Given the description of an element on the screen output the (x, y) to click on. 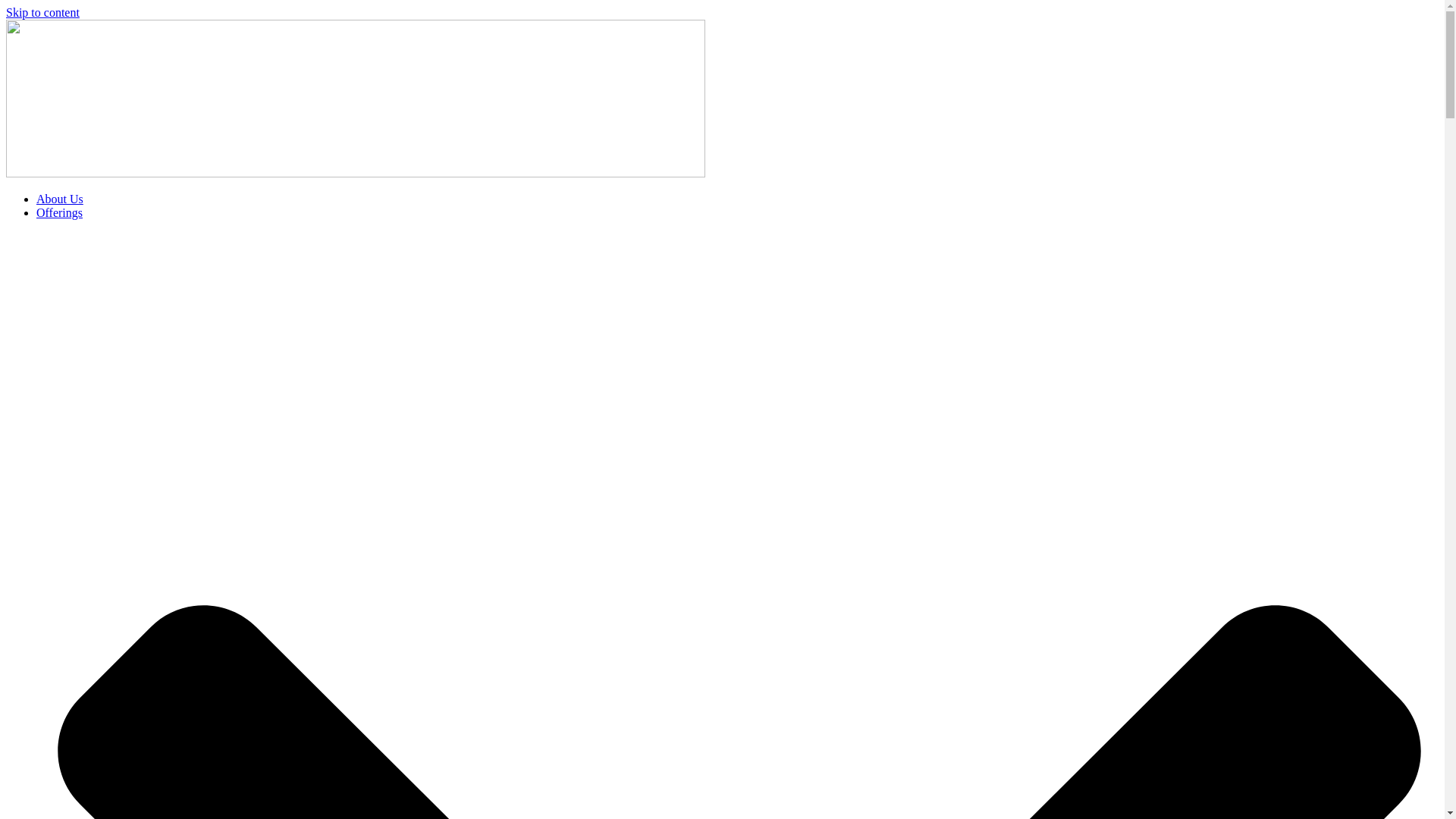
Offerings (59, 212)
About Us (59, 198)
Skip to content (42, 11)
